Given the description of an element on the screen output the (x, y) to click on. 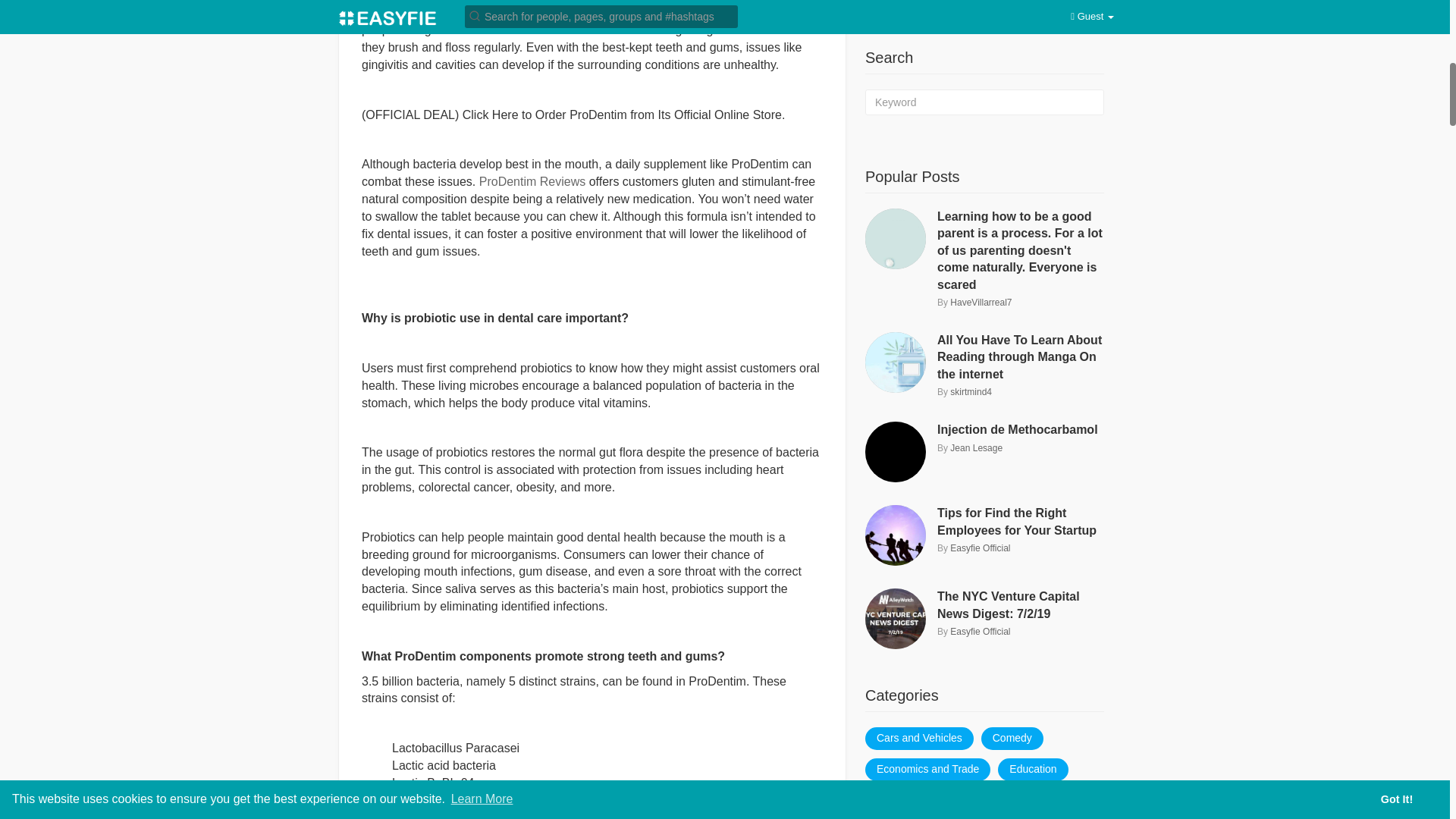
ProDentim Reviews (532, 181)
